Given the description of an element on the screen output the (x, y) to click on. 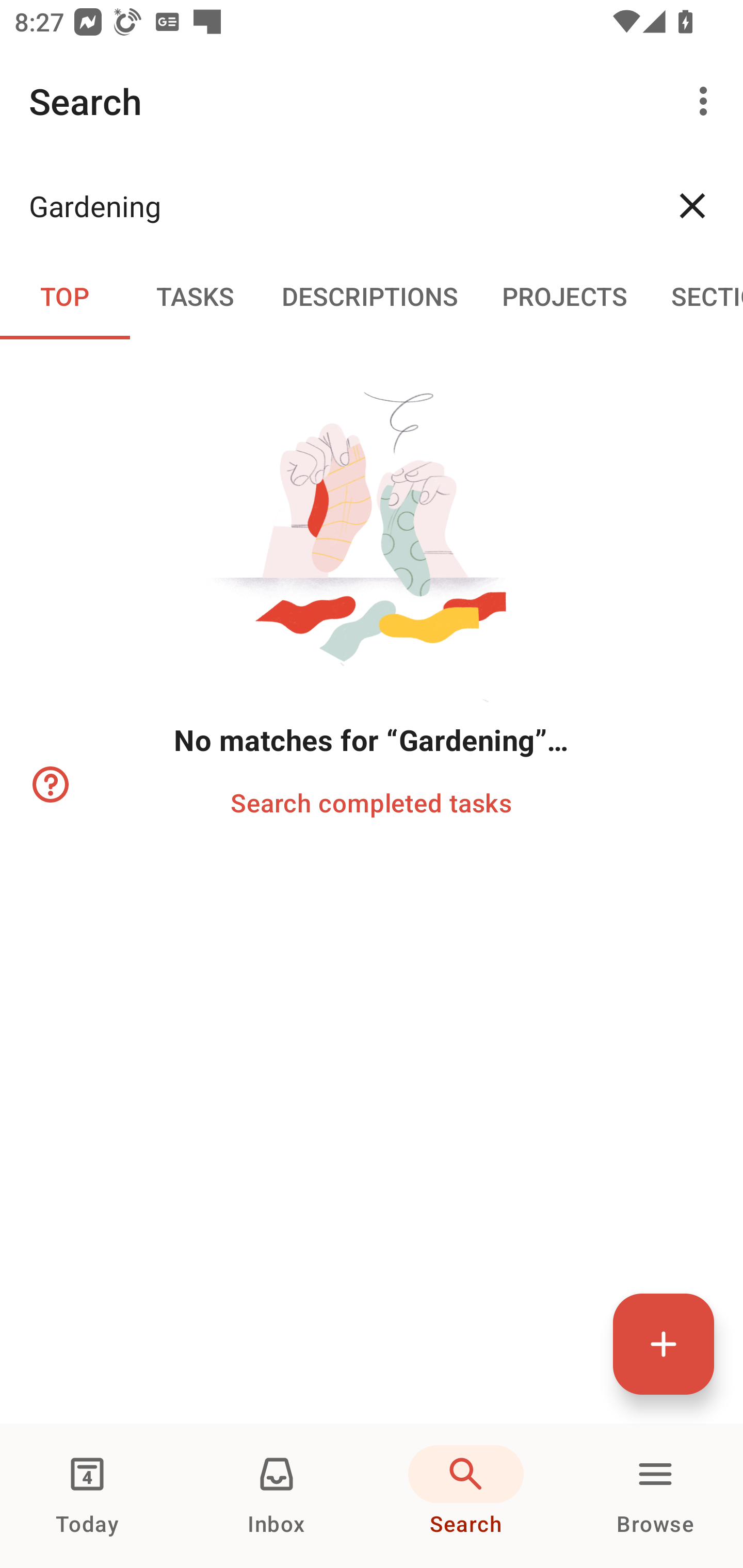
Search More options (371, 100)
More options (706, 101)
Gardening (335, 205)
Clear (692, 205)
Tasks TASKS (195, 295)
Descriptions DESCRIPTIONS (370, 295)
Projects PROJECTS (564, 295)
Learn how to refine your search (48, 784)
Search completed tasks (370, 801)
Quick add (663, 1343)
Today (87, 1495)
Inbox (276, 1495)
Browse (655, 1495)
